Given the description of an element on the screen output the (x, y) to click on. 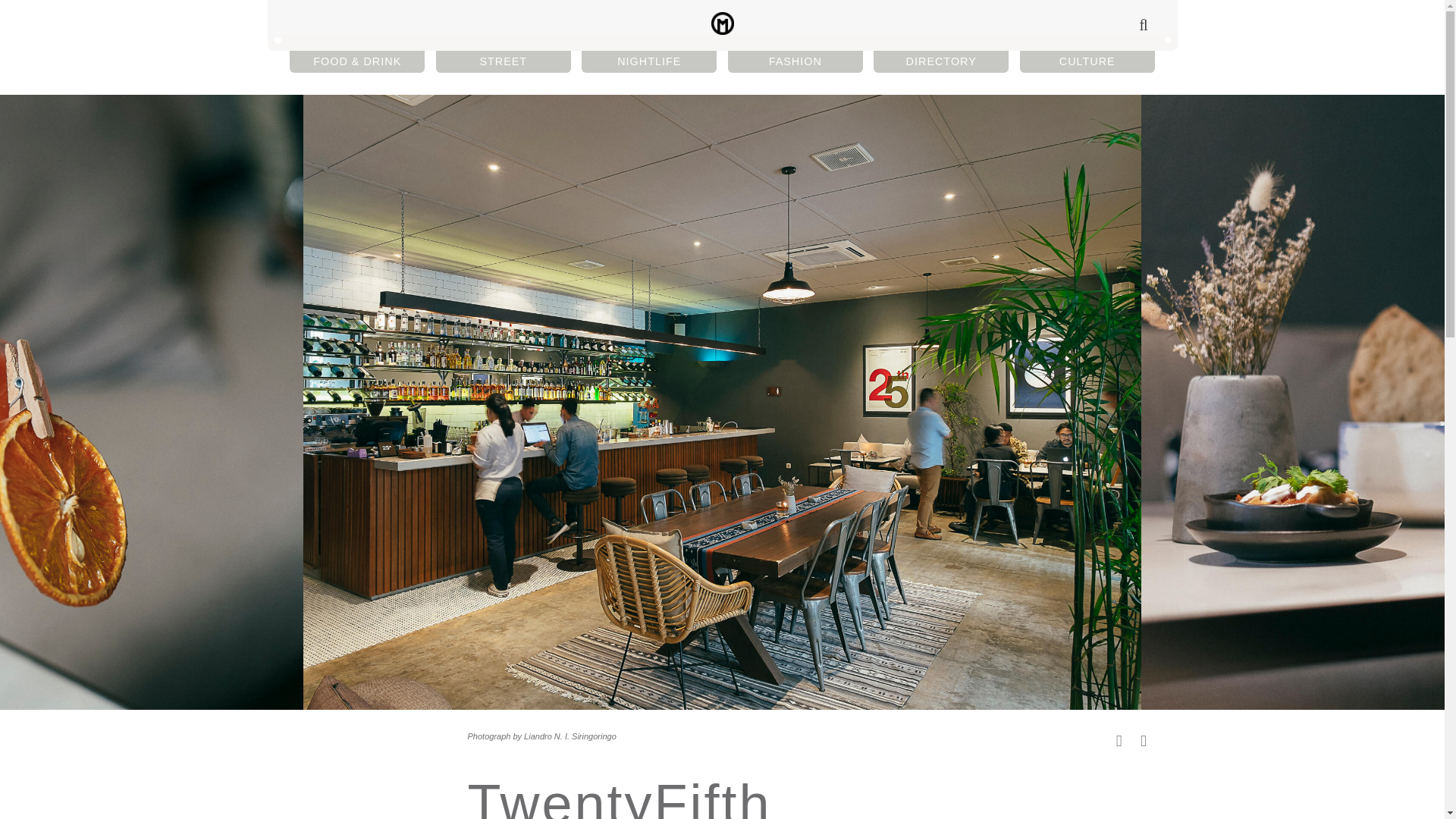
CULTURE (1087, 61)
Next (1144, 740)
NIGHTLIFE (648, 61)
DIRECTORY (941, 61)
Previous (1119, 740)
FASHION (795, 61)
STREET (502, 61)
Show search (1142, 24)
